Given the description of an element on the screen output the (x, y) to click on. 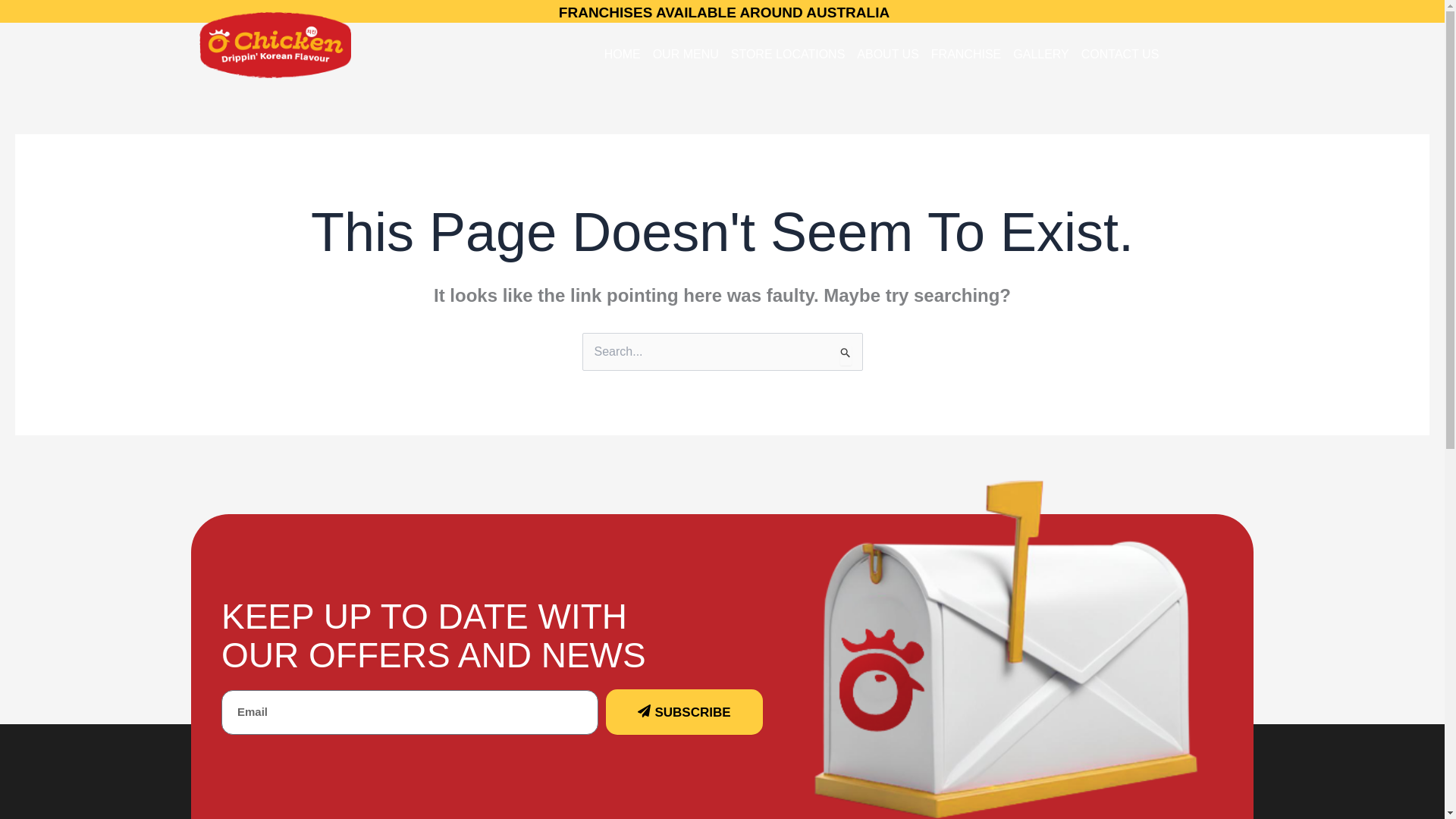
STORE LOCATIONS (788, 54)
FRANCHISES AVAILABLE AROUND AUSTRALIA (724, 12)
HOME (622, 54)
SUBSCRIBE (683, 711)
GALLERY (1041, 54)
OUR MENU (685, 54)
FRANCHISE (965, 54)
ABOUT US (887, 54)
CONTACT US (1120, 54)
